Given the description of an element on the screen output the (x, y) to click on. 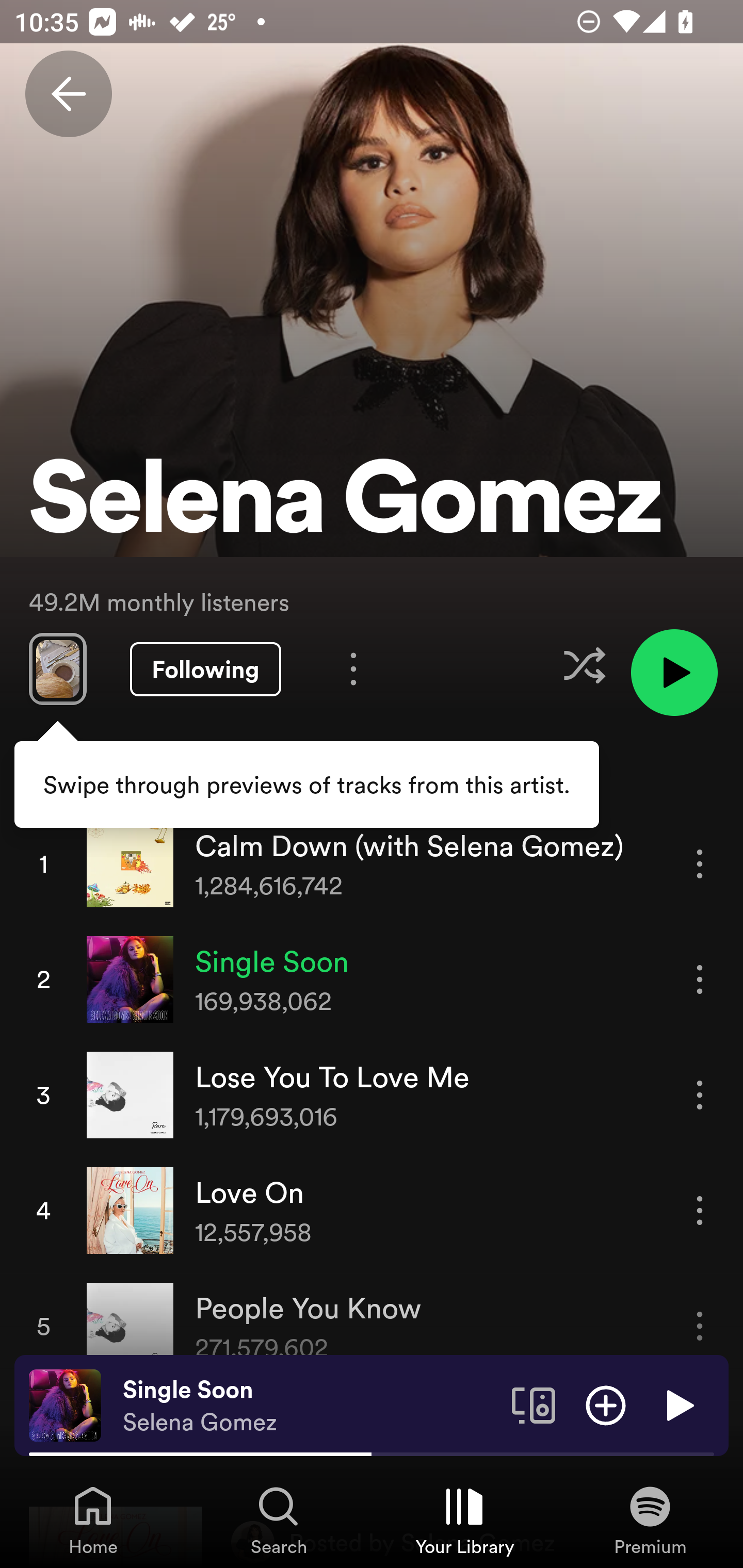
Back (68, 93)
Enable shuffle for this artist (583, 665)
More options for artist Selena Gomez (352, 668)
Play artist (674, 672)
Following Unfollow (205, 669)
More options for song Single Soon (699, 979)
More options for song Lose You To Love Me (699, 1095)
4 Love On 12,557,958 More options for song Love On (371, 1210)
More options for song Love On (699, 1210)
More options for song People You Know (699, 1325)
Single Soon Selena Gomez (309, 1405)
The cover art of the currently playing track (64, 1404)
Connect to a device. Opens the devices menu (533, 1404)
Add item (605, 1404)
Play (677, 1404)
Home, Tab 1 of 4 Home Home (92, 1519)
Search, Tab 2 of 4 Search Search (278, 1519)
Your Library, Tab 3 of 4 Your Library Your Library (464, 1519)
Premium, Tab 4 of 4 Premium Premium (650, 1519)
